Given the description of an element on the screen output the (x, y) to click on. 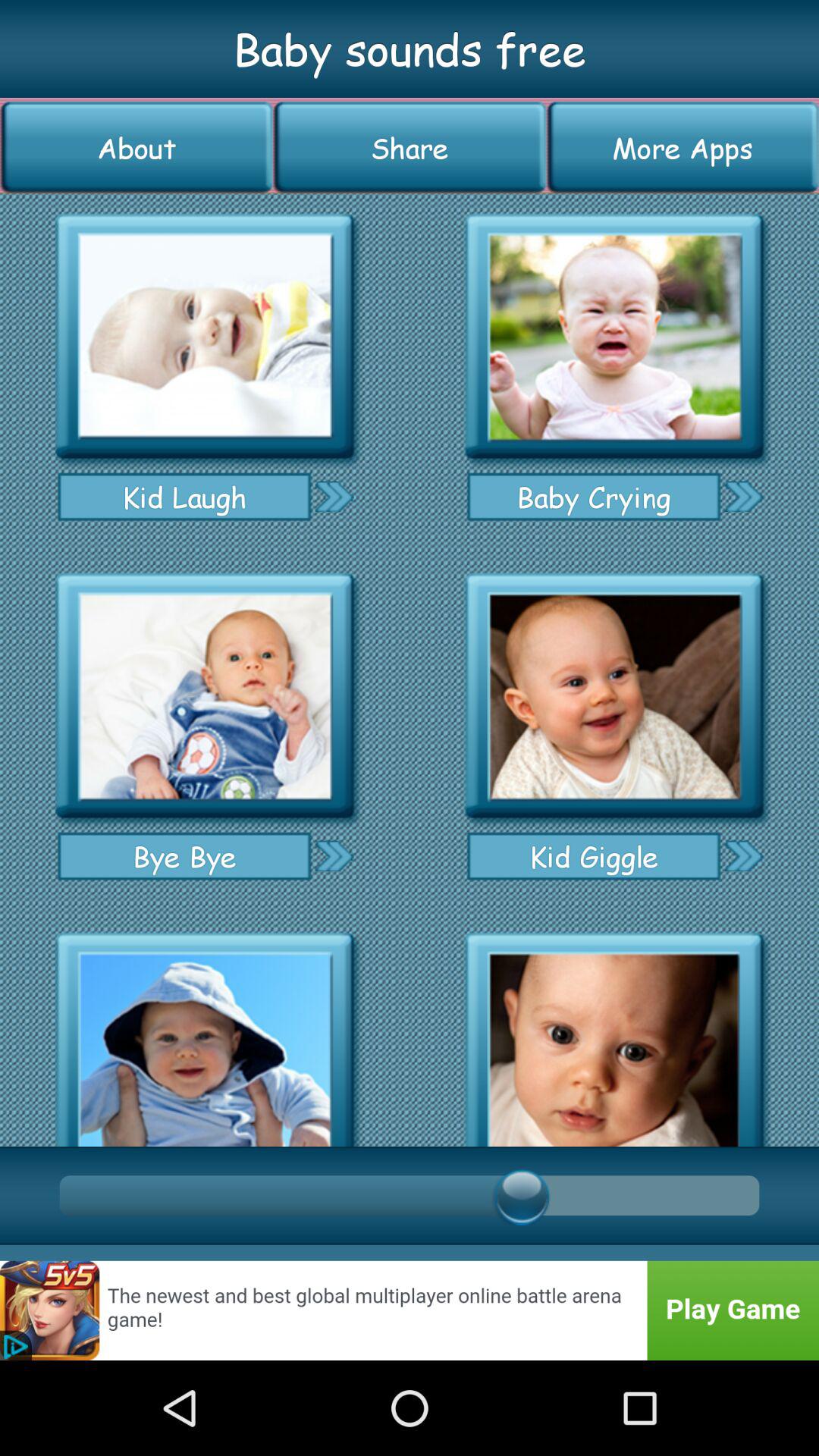
baby sound selection option (204, 696)
